Given the description of an element on the screen output the (x, y) to click on. 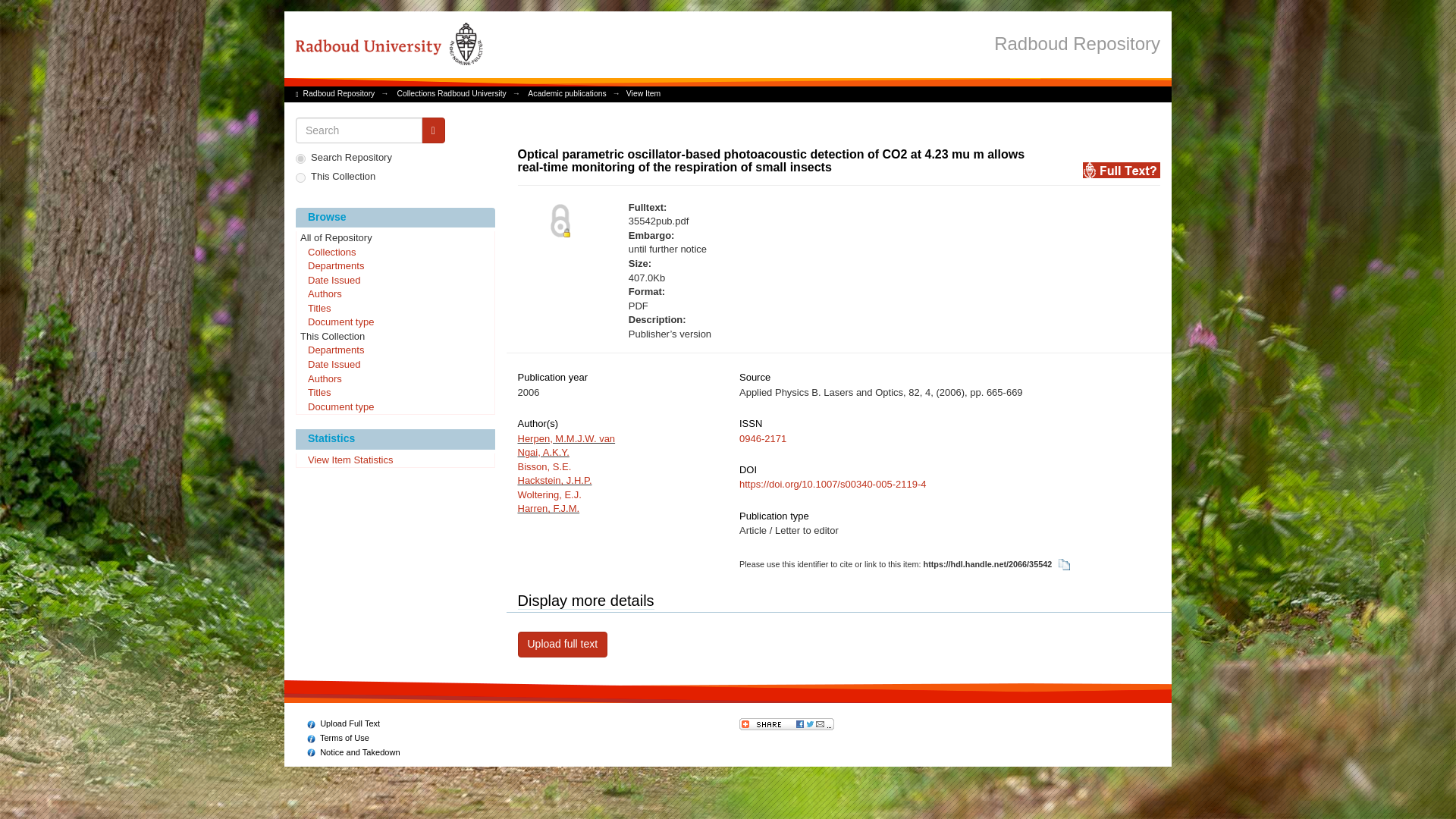
Collections (395, 253)
Authors (395, 379)
This Collection (395, 337)
Academic publications (566, 93)
Browse (395, 217)
Ngai, A.K.Y. (542, 451)
Statistics (395, 438)
Document type (395, 407)
Bisson, S.E. (543, 466)
Collections Radboud University (450, 93)
Date Issued (395, 365)
Departments (395, 350)
All of Repository (395, 238)
Information about the File Upload (343, 723)
0946-2171 (762, 438)
